Given the description of an element on the screen output the (x, y) to click on. 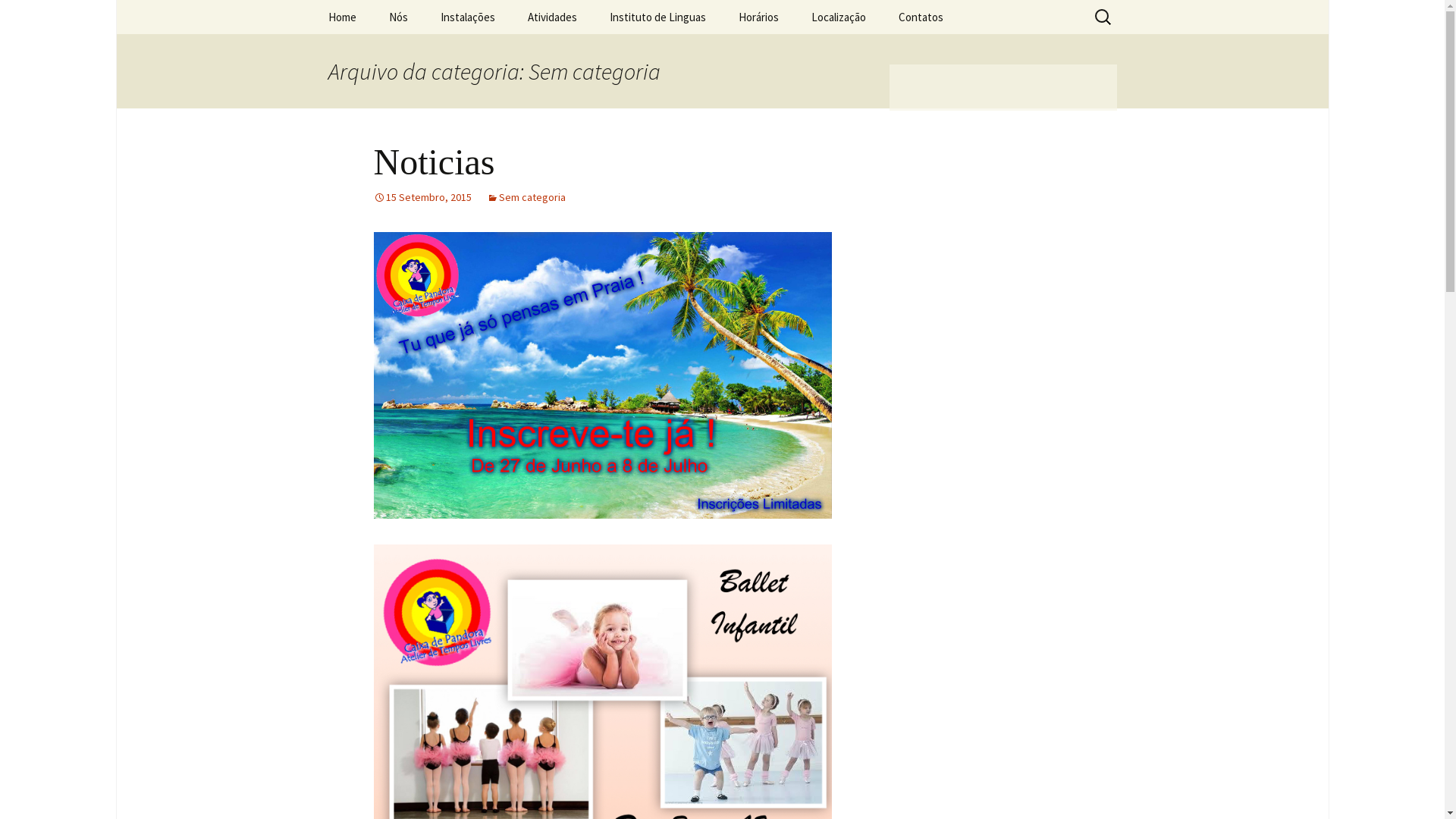
Sem categoria Element type: text (525, 196)
Home Element type: text (341, 17)
Atividades extracurriculares Element type: text (588, 56)
Instituto de Linguas Element type: text (657, 17)
O Mito Element type: text (448, 51)
Noticias Element type: text (433, 161)
Atividades Element type: text (552, 17)
Procurar Element type: text (18, 16)
Contatos Element type: text (919, 17)
15 Setembro, 2015 Element type: text (421, 196)
Procurar por: Element type: hover (1103, 17)
